Given the description of an element on the screen output the (x, y) to click on. 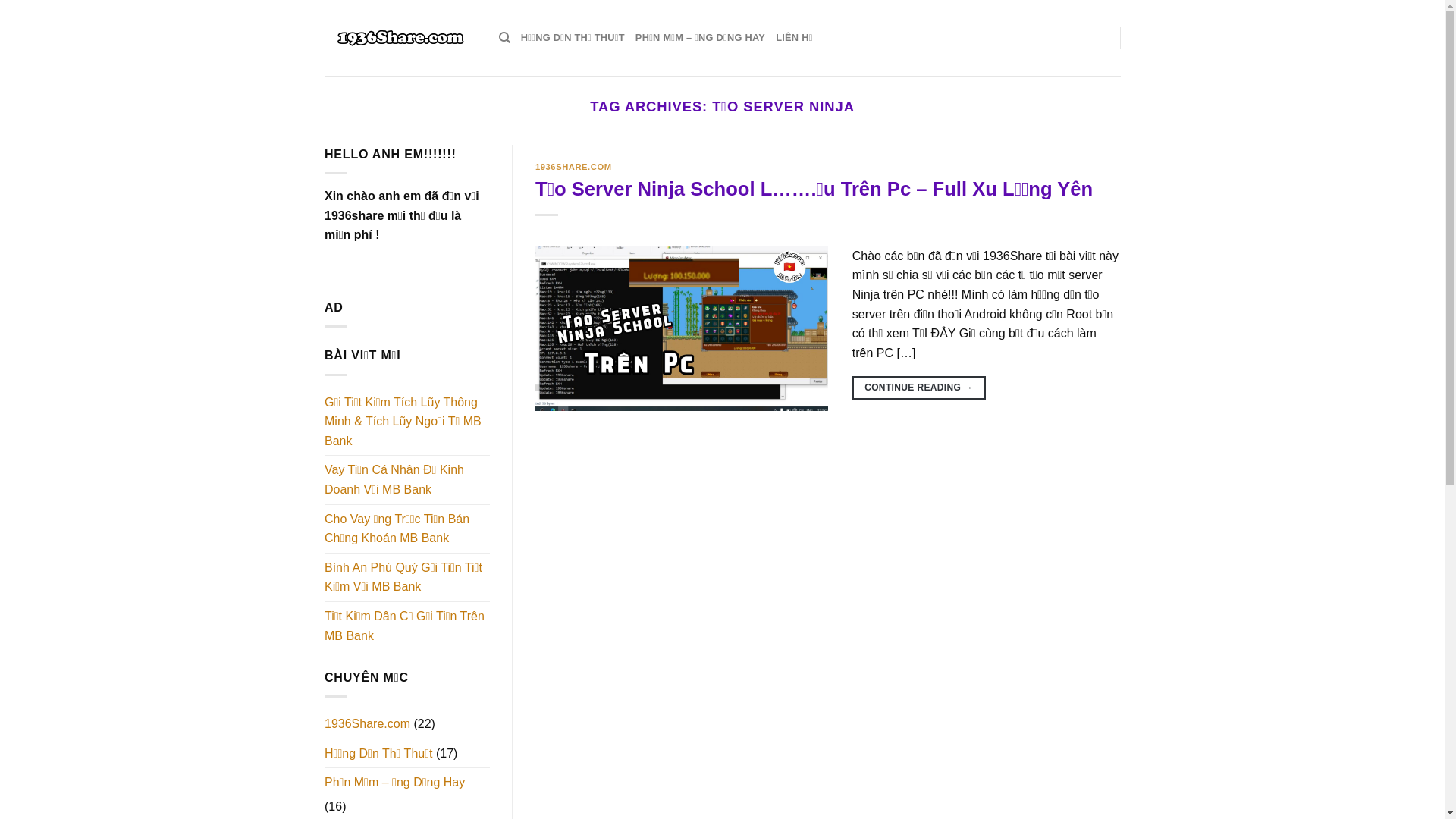
1936SHARE.COM Element type: text (573, 166)
1936Share.com Element type: text (367, 724)
